Given the description of an element on the screen output the (x, y) to click on. 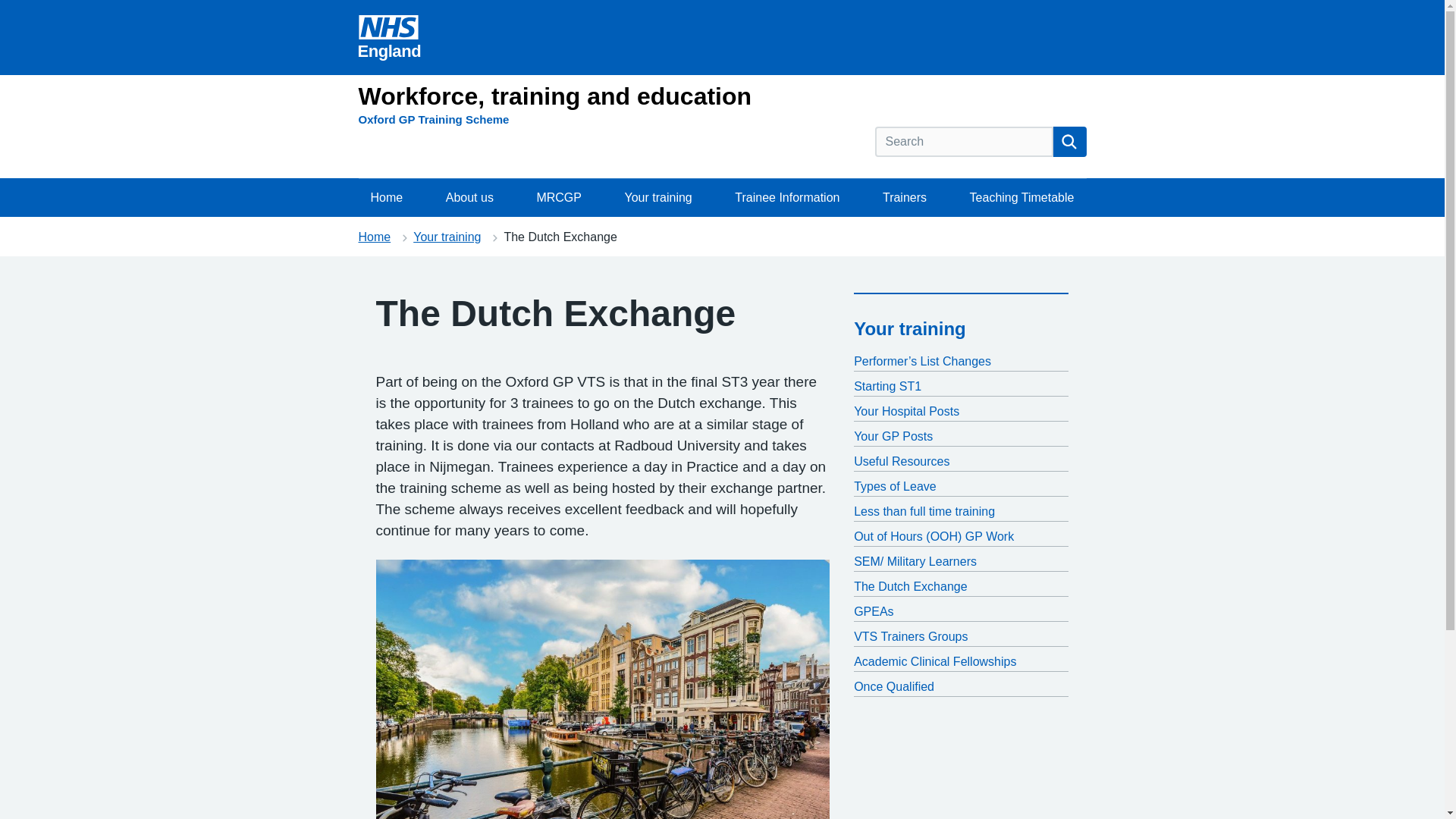
VTS Trainers Groups (960, 637)
Oxford GP Training Scheme (433, 119)
GPEAs (960, 611)
Trainee Information (786, 198)
Your training (909, 328)
Your GP Posts (960, 436)
Teaching Timetable (1022, 198)
Useful Resources (960, 461)
Academic Clinical Fellowships (960, 661)
Less than full time training (960, 511)
Your Hospital Posts (960, 411)
About us (469, 198)
Workforce, training and education (554, 95)
Starting ST1 (960, 386)
Home (386, 198)
